Given the description of an element on the screen output the (x, y) to click on. 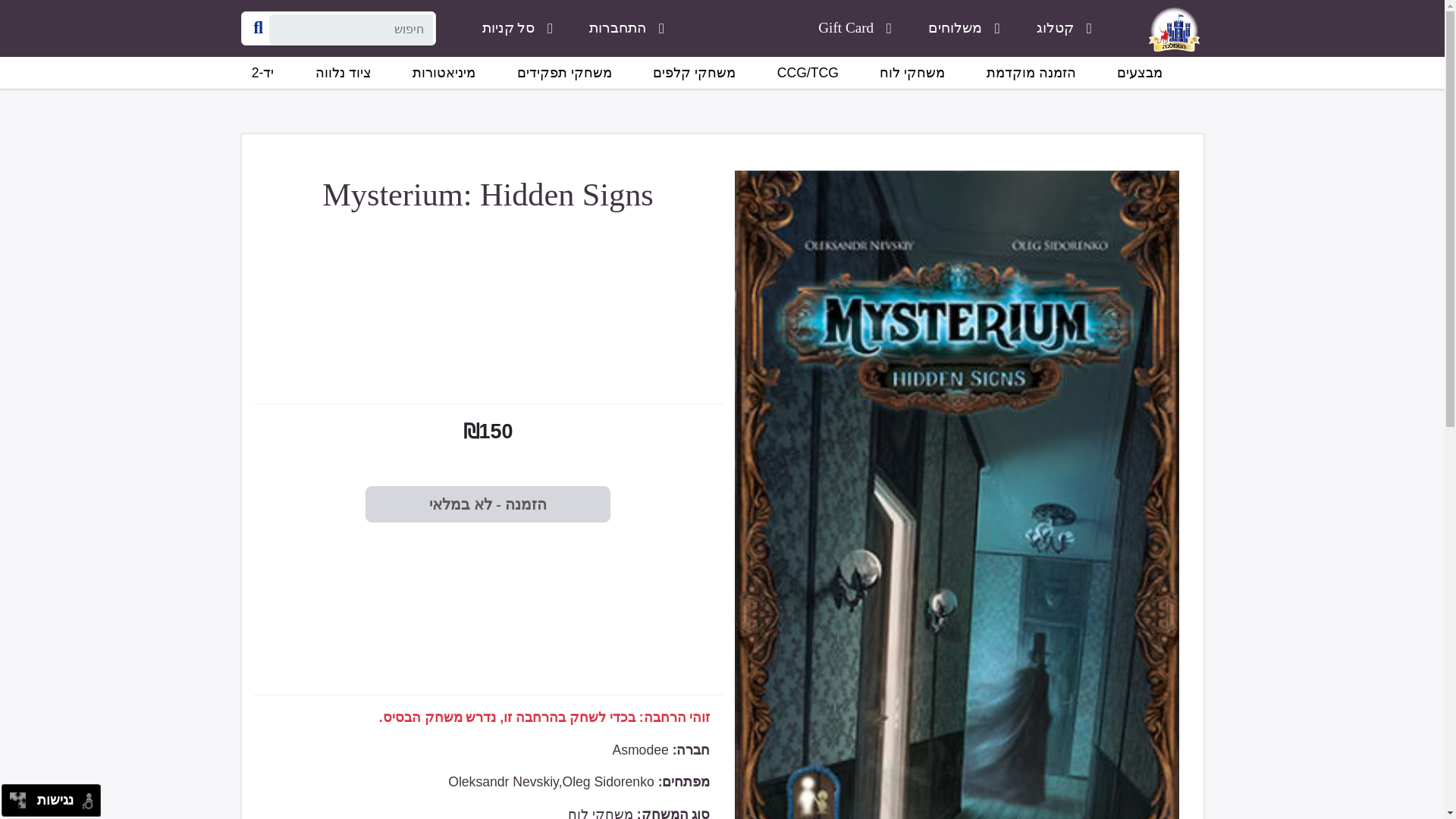
Gift Card (855, 28)
